Given the description of an element on the screen output the (x, y) to click on. 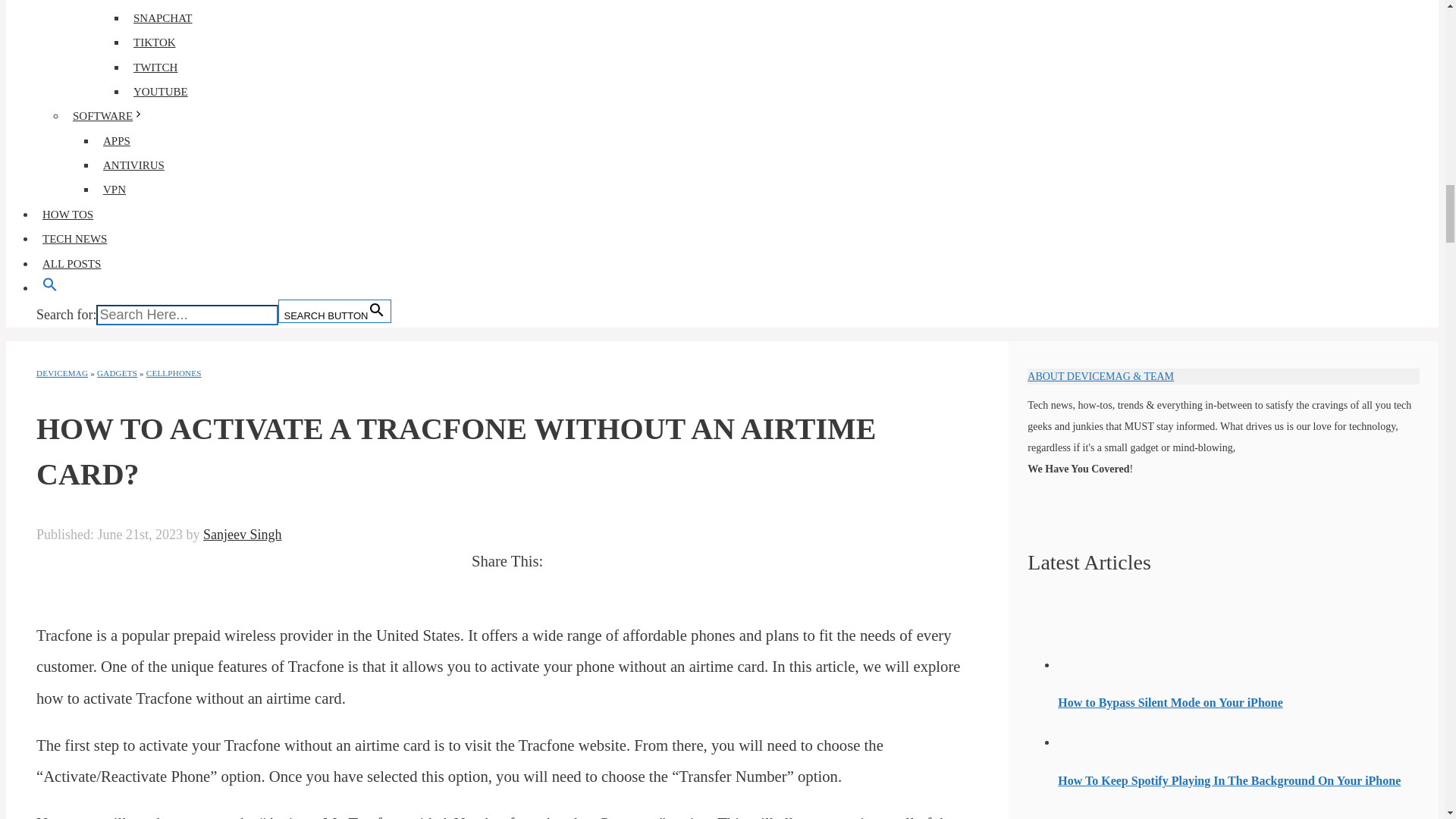
View all posts by Sanjeev Singh (242, 534)
